Given the description of an element on the screen output the (x, y) to click on. 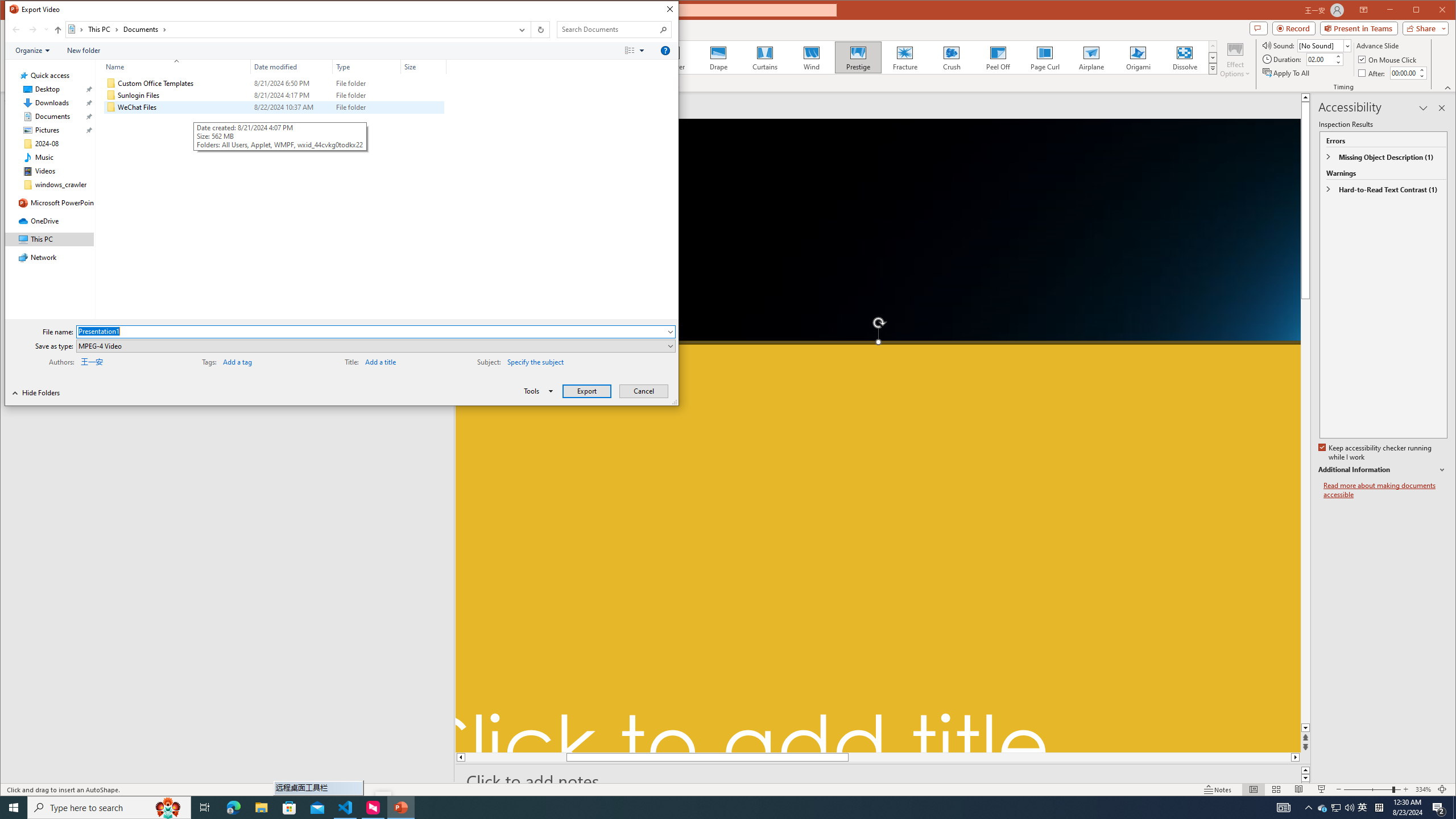
Recent locations (45, 29)
&Help (665, 50)
Documents (144, 29)
Hide Folders (36, 392)
Class: ToolbarWindow32 (40, 392)
Origami (1138, 57)
